Given the description of an element on the screen output the (x, y) to click on. 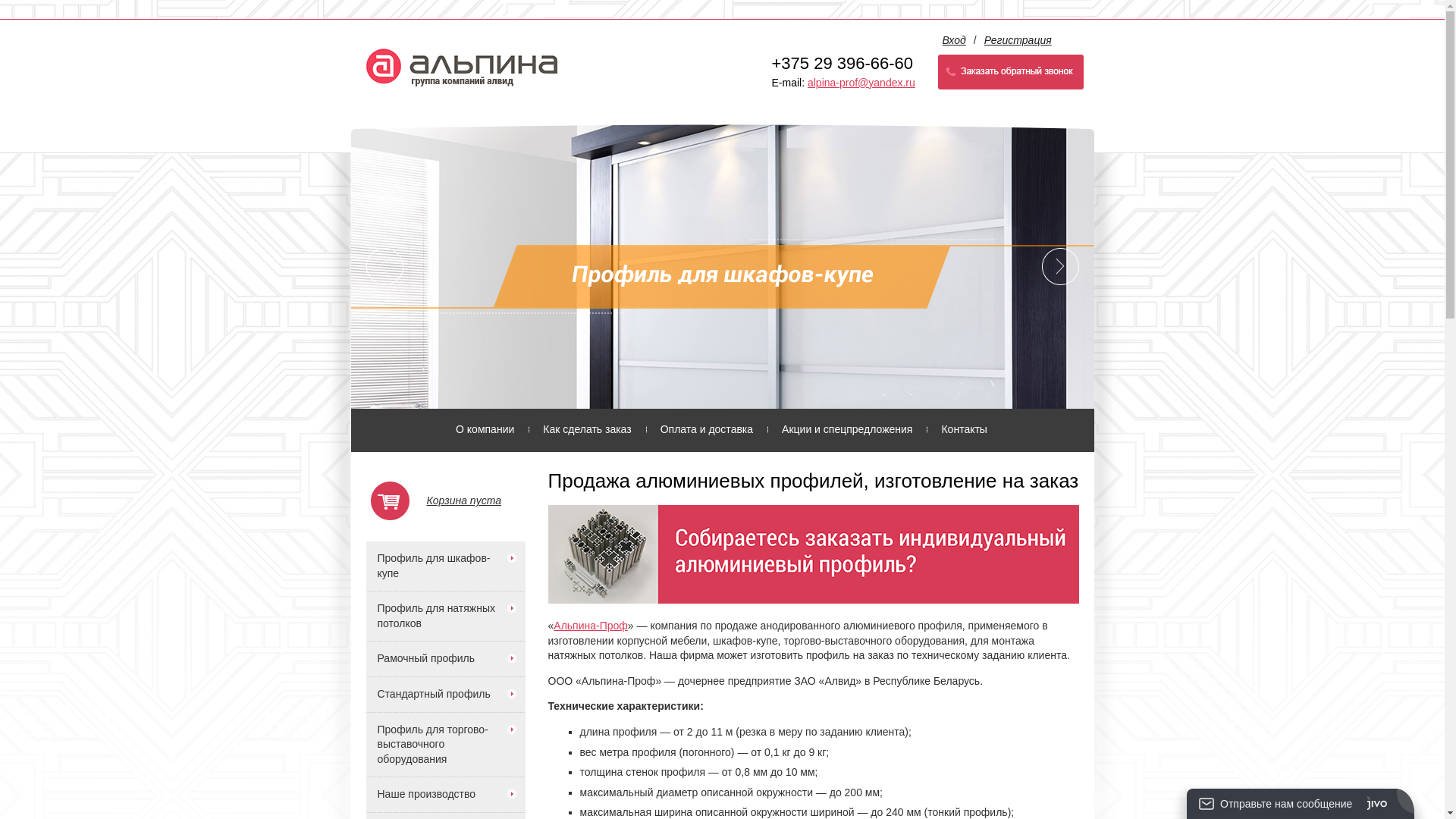
4 Element type: text (772, 387)
5 Element type: text (789, 387)
alpina-prof@yandex.ru Element type: text (861, 82)
2 Element type: text (737, 387)
1 Element type: text (719, 387)
Next Element type: text (1067, 266)
3 Element type: text (754, 387)
Prev Element type: text (376, 266)
